Given the description of an element on the screen output the (x, y) to click on. 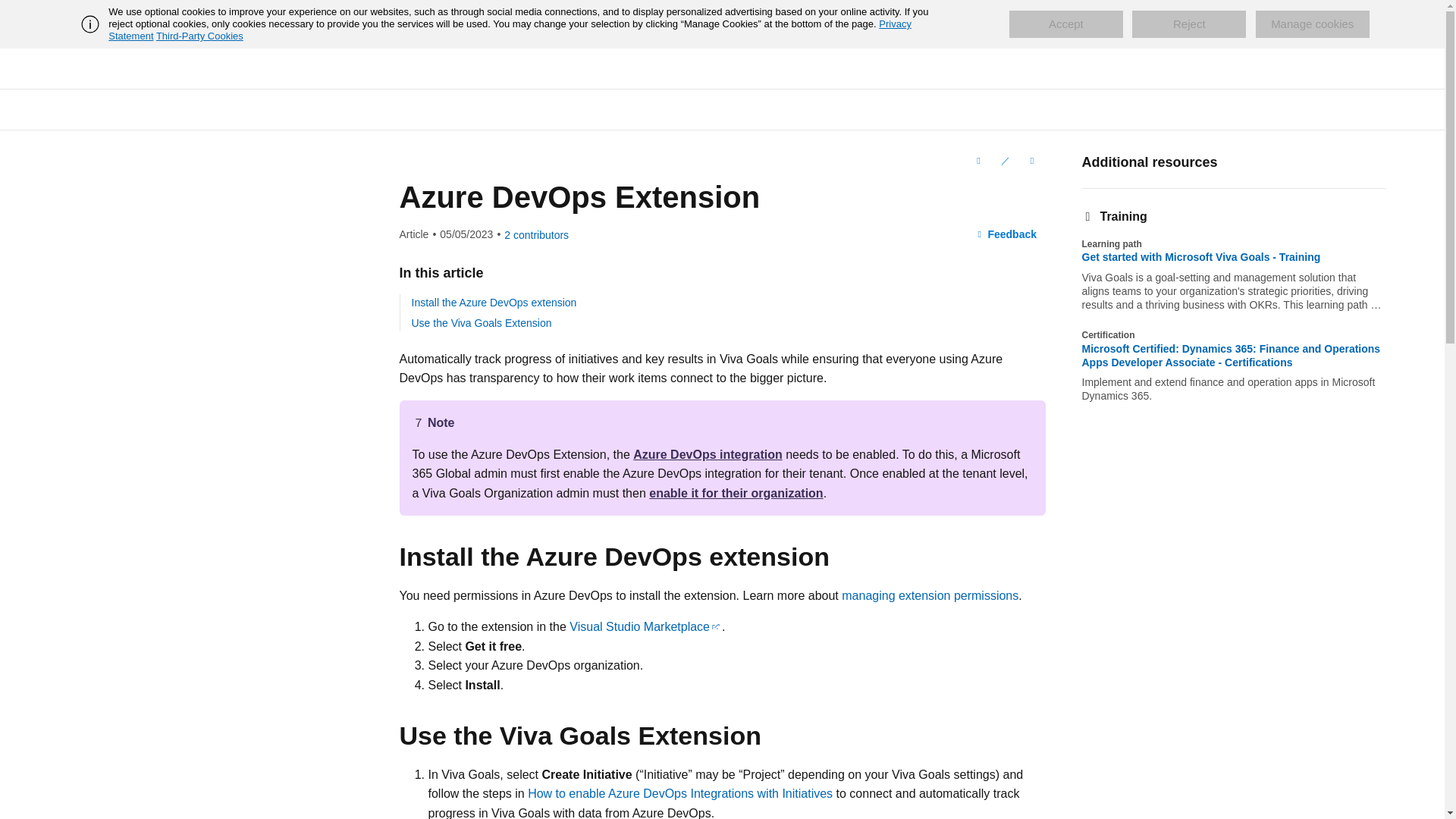
View all contributors (536, 234)
Edit This Document (1004, 160)
managing extension permissions (929, 594)
enable it for their organization (735, 492)
How to enable Azure DevOps Integrations with Initiatives (679, 793)
More actions (1031, 160)
Third-Party Cookies (199, 35)
Azure DevOps integration (707, 454)
Accept (1065, 23)
Reject (1189, 23)
